Given the description of an element on the screen output the (x, y) to click on. 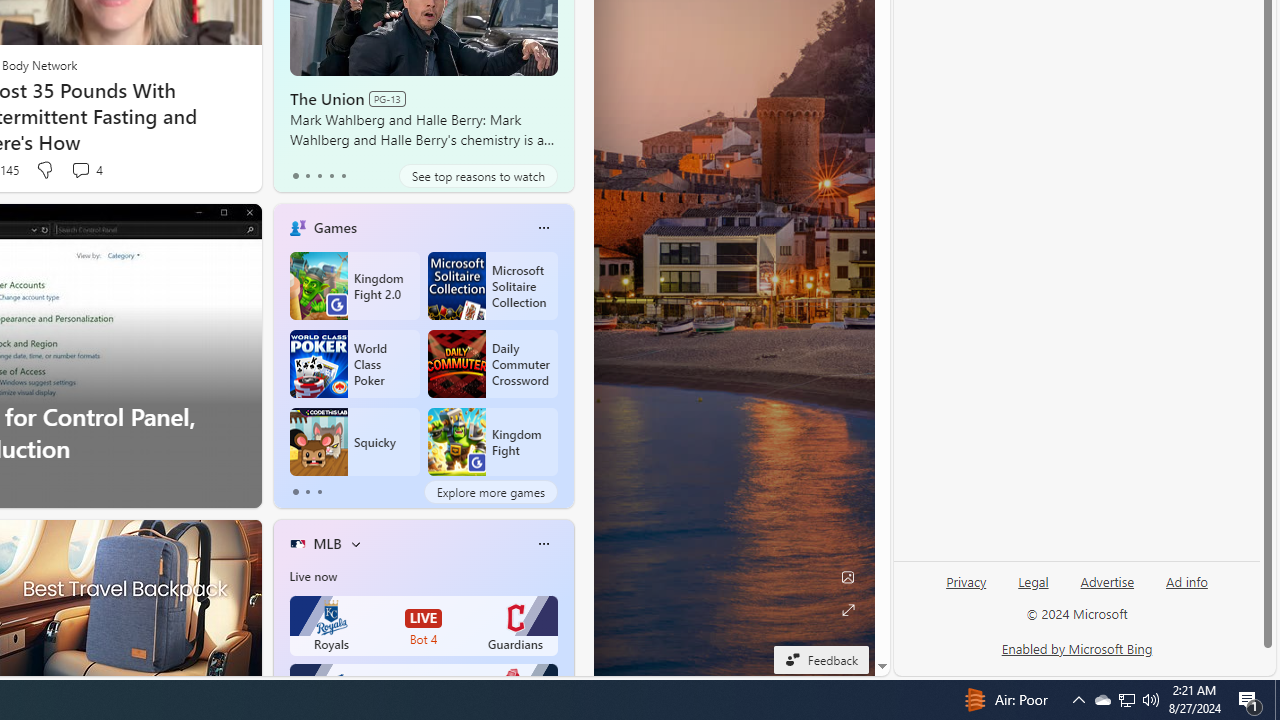
tab-4 (342, 175)
Expand background (847, 610)
See top reasons to watch (478, 175)
Class: icon-img (543, 543)
Games (335, 227)
